Given the description of an element on the screen output the (x, y) to click on. 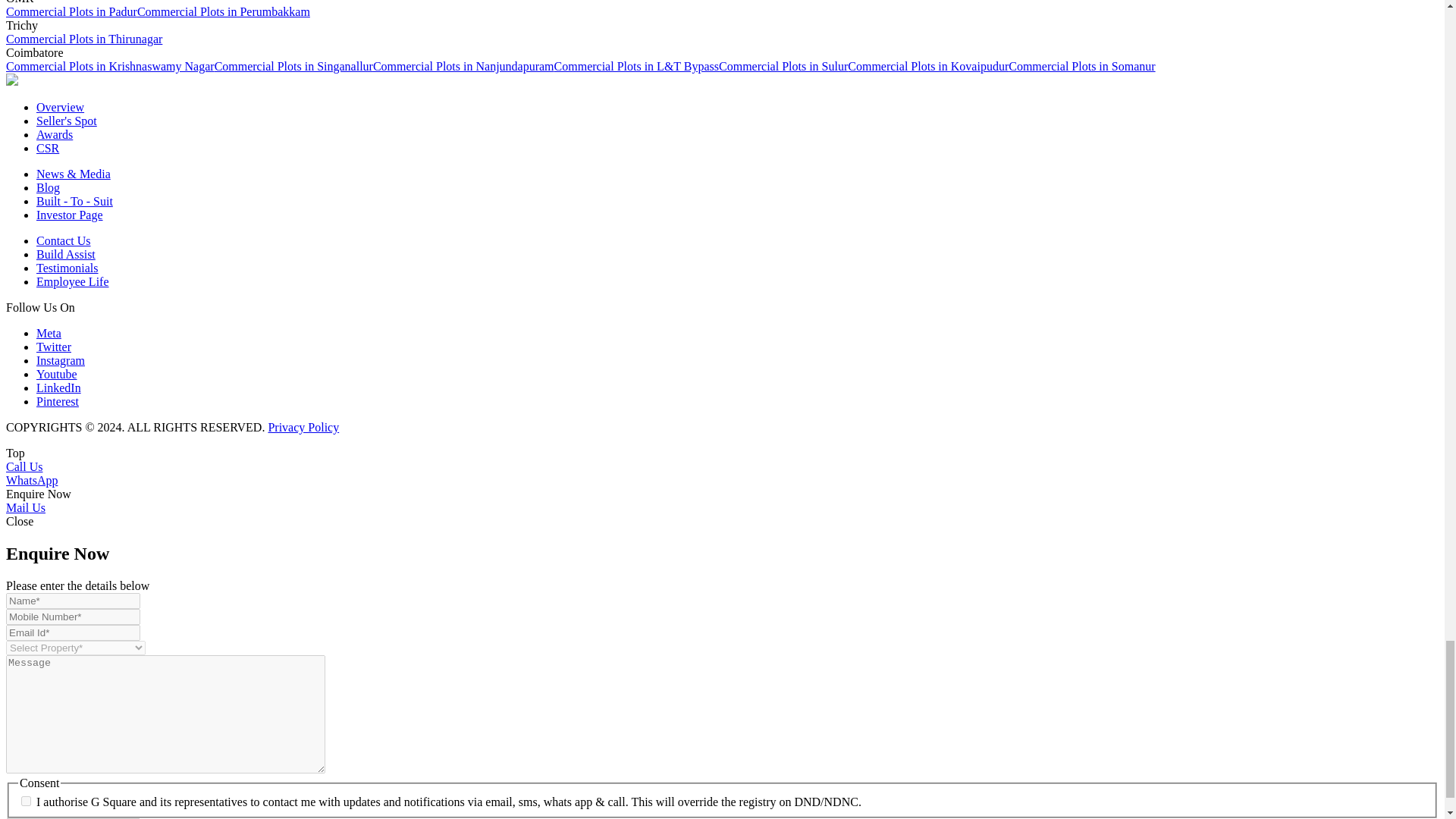
Instagram (60, 359)
Meta (48, 332)
1 (25, 800)
Twitter (53, 346)
Top (14, 452)
Youtube (56, 373)
Pinterest (57, 400)
LinkedIn (58, 387)
